Given the description of an element on the screen output the (x, y) to click on. 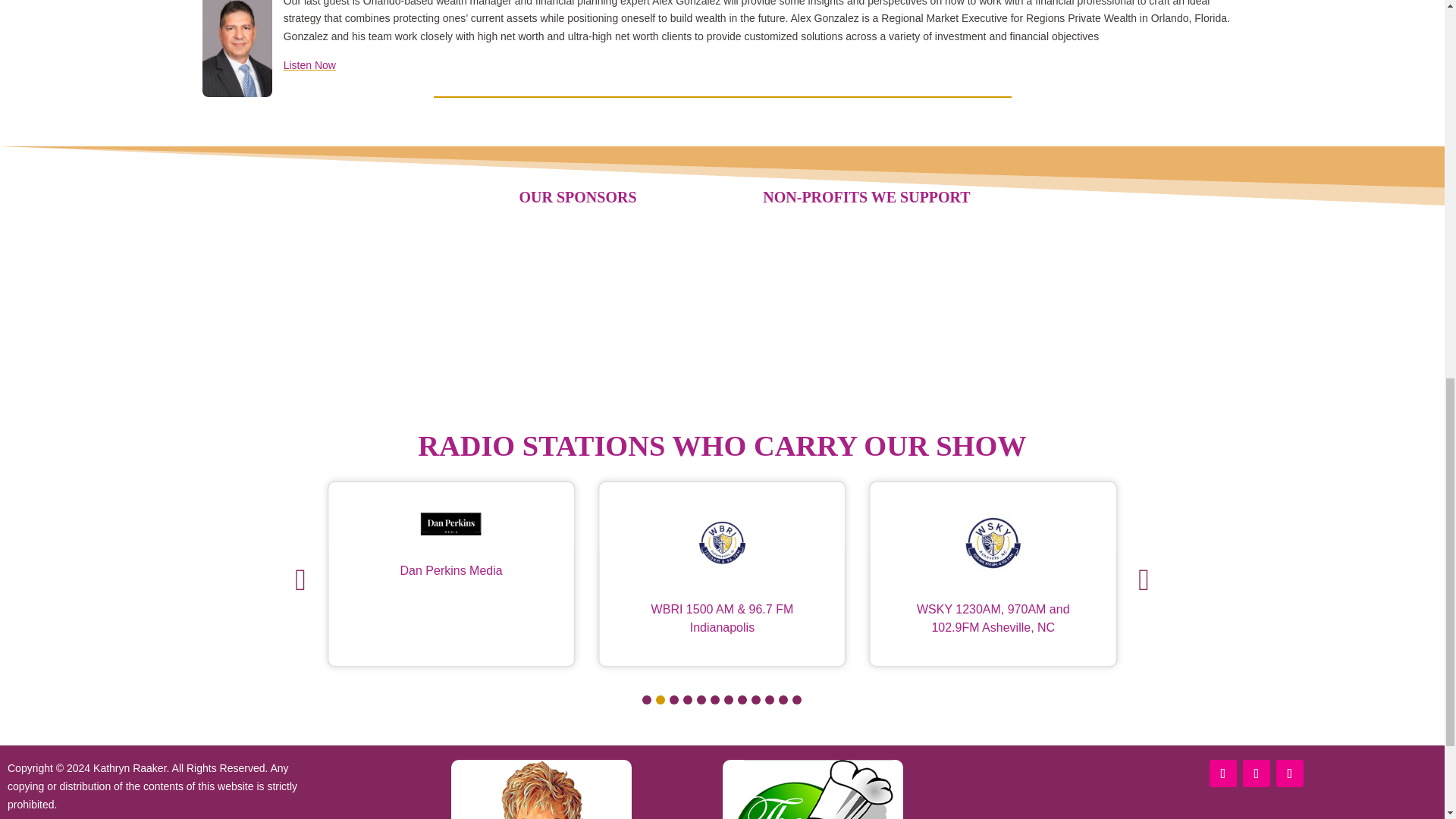
Follow on Facebook (1222, 773)
Follow on X (1289, 773)
The Chef You and I (812, 789)
Listen Now (309, 64)
Kathryn Raaker's World (541, 789)
Follow on LinkedIn (1256, 773)
